Given the description of an element on the screen output the (x, y) to click on. 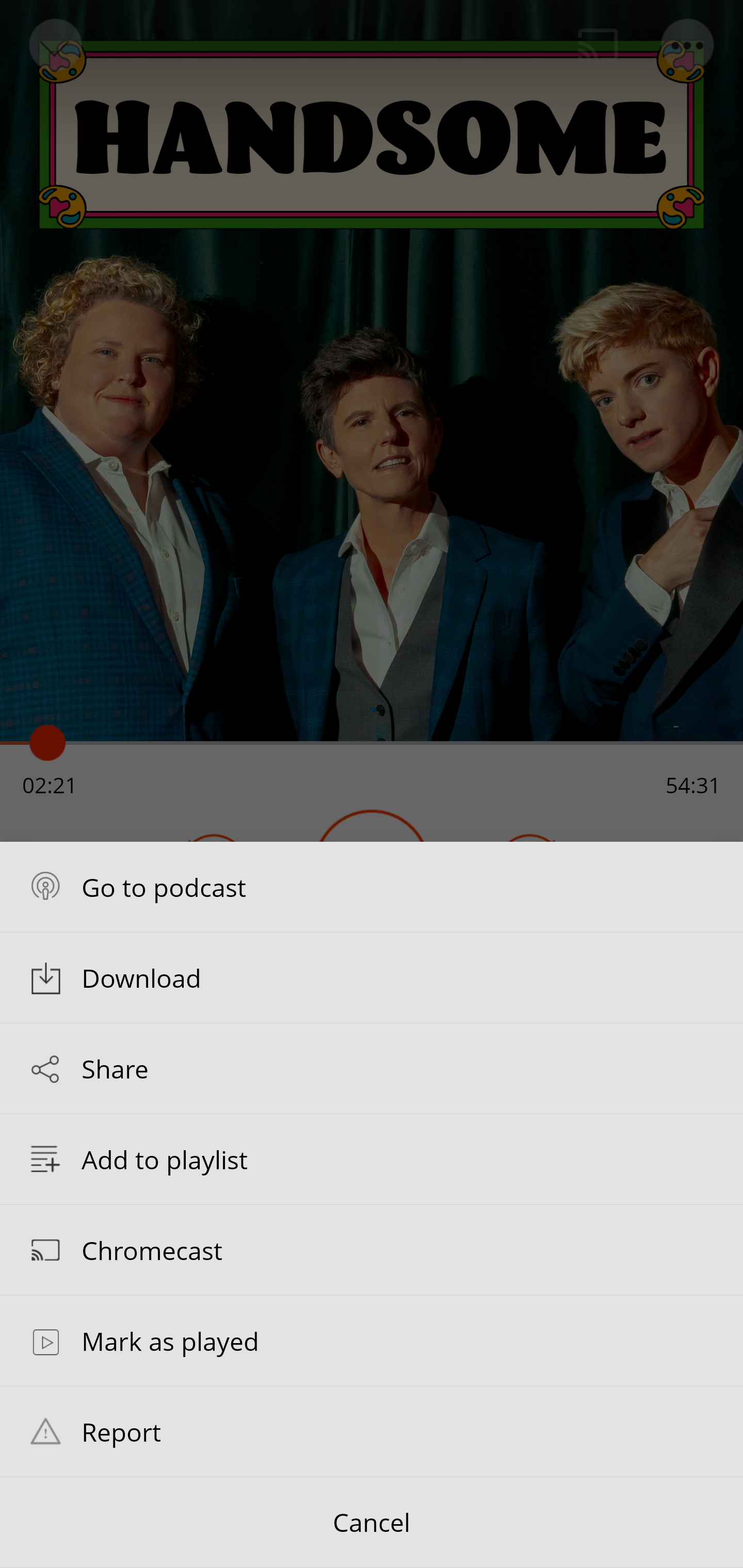
Go to podcast (371, 886)
Download (371, 977)
Share (371, 1068)
Add to playlist (371, 1159)
Chromecast (371, 1249)
Mark as played (371, 1340)
Report (371, 1431)
Cancel (371, 1522)
